Given the description of an element on the screen output the (x, y) to click on. 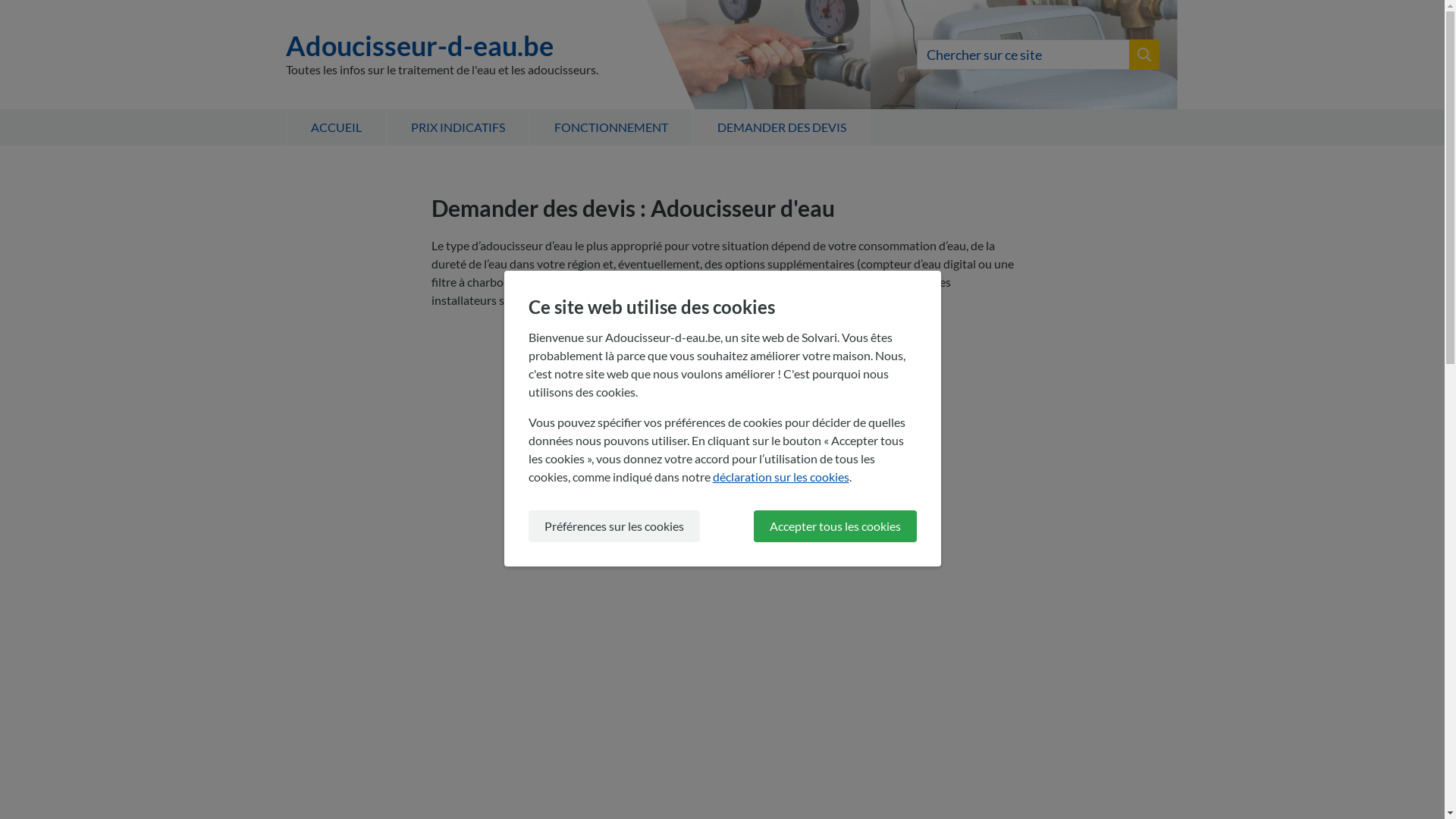
Adoucisseur-d-eau.be Element type: text (441, 45)
Accepter tous les cookies Element type: text (834, 526)
DEMANDER DES DEVIS Element type: text (780, 127)
FONCTIONNEMENT Element type: text (610, 127)
PRIX INDICATIFS Element type: text (456, 127)
ACCUEIL Element type: text (335, 127)
